Given the description of an element on the screen output the (x, y) to click on. 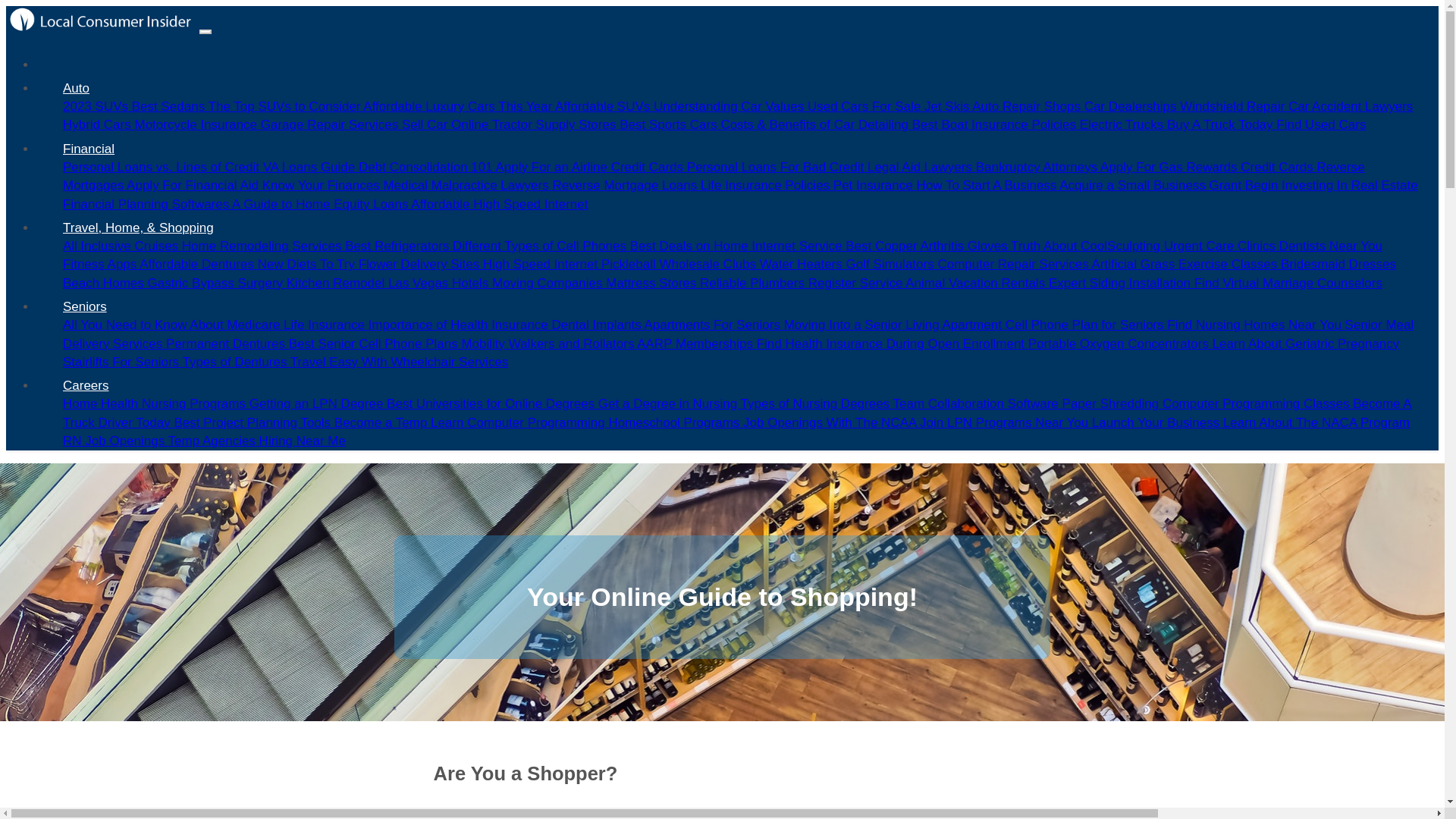
Understanding Car Values (730, 106)
Know Your Finances (323, 185)
Auto (75, 88)
Used Cars For Sale (866, 106)
Sell Car Online (446, 124)
The Top SUVs to Consider (286, 106)
Car Accident Lawyers (1350, 106)
Personal Loans For Bad Credit (777, 166)
Best Boat Insurance Policies (996, 124)
Car Dealerships (1132, 106)
Personal Loans vs. Lines of Credit (162, 166)
Find Used Cars (1320, 124)
Buy A Truck Today (1221, 124)
2023 SUVs (97, 106)
Motorcycle Insurance (196, 124)
